Given the description of an element on the screen output the (x, y) to click on. 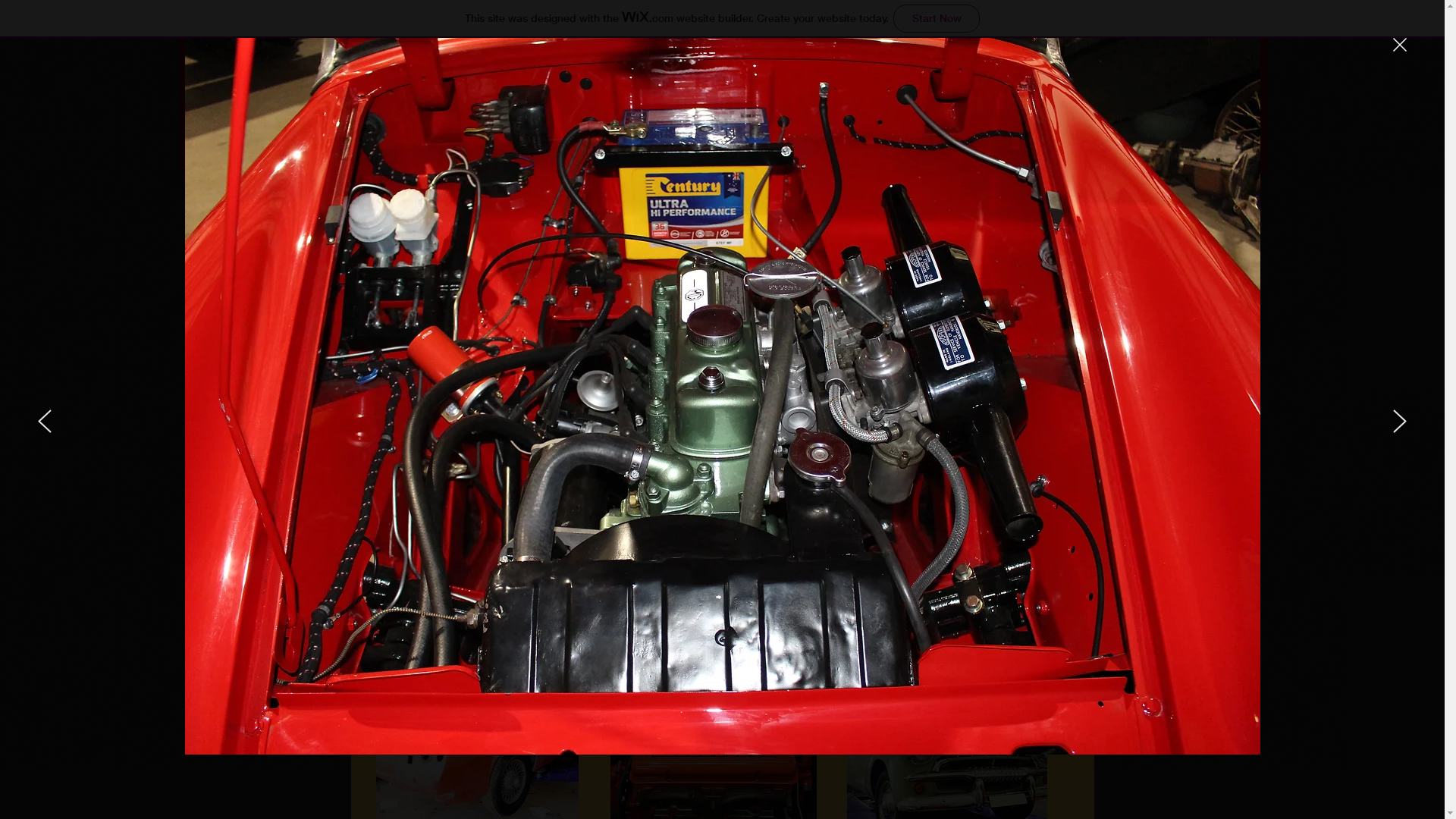
CUSTOM WHEEL ALIGNMENT Element type: text (722, 197)
RESTORATION & SERVICING Element type: text (564, 197)
HOME Element type: text (406, 197)
CONTACT US Element type: text (1038, 197)
GALLERY & COMMUNITY Element type: text (880, 197)
